Given the description of an element on the screen output the (x, y) to click on. 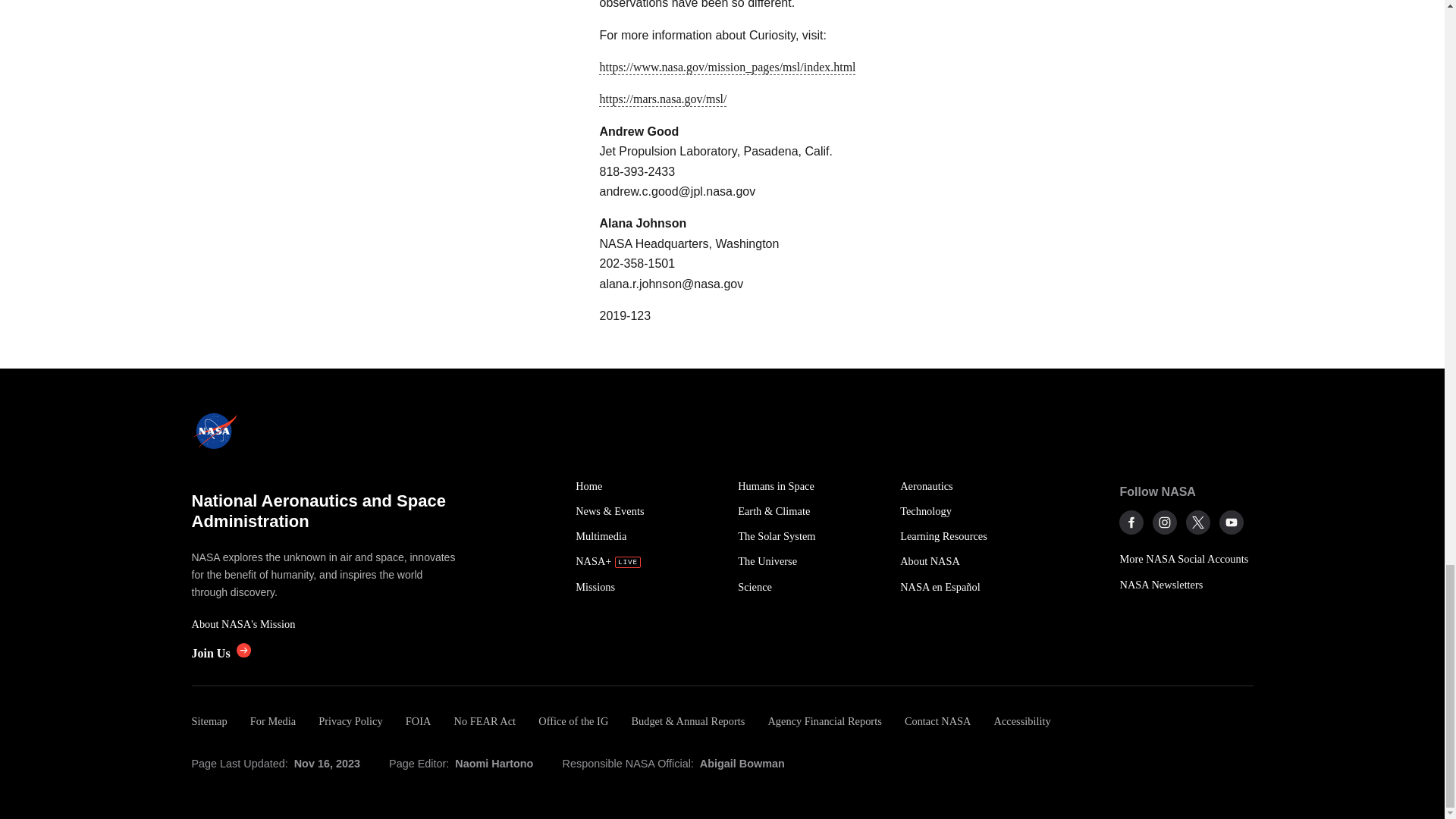
Multimedia (647, 536)
The Universe (810, 561)
Join Us (220, 653)
Home (647, 486)
Missions (647, 586)
NASA on Facebook (1130, 522)
NASA on Instagram (1164, 522)
NASA on YouTube (1231, 522)
The Solar System (810, 536)
NASA on X (1197, 522)
Humans in Space (810, 486)
About NASA's Mission (324, 624)
